Given the description of an element on the screen output the (x, y) to click on. 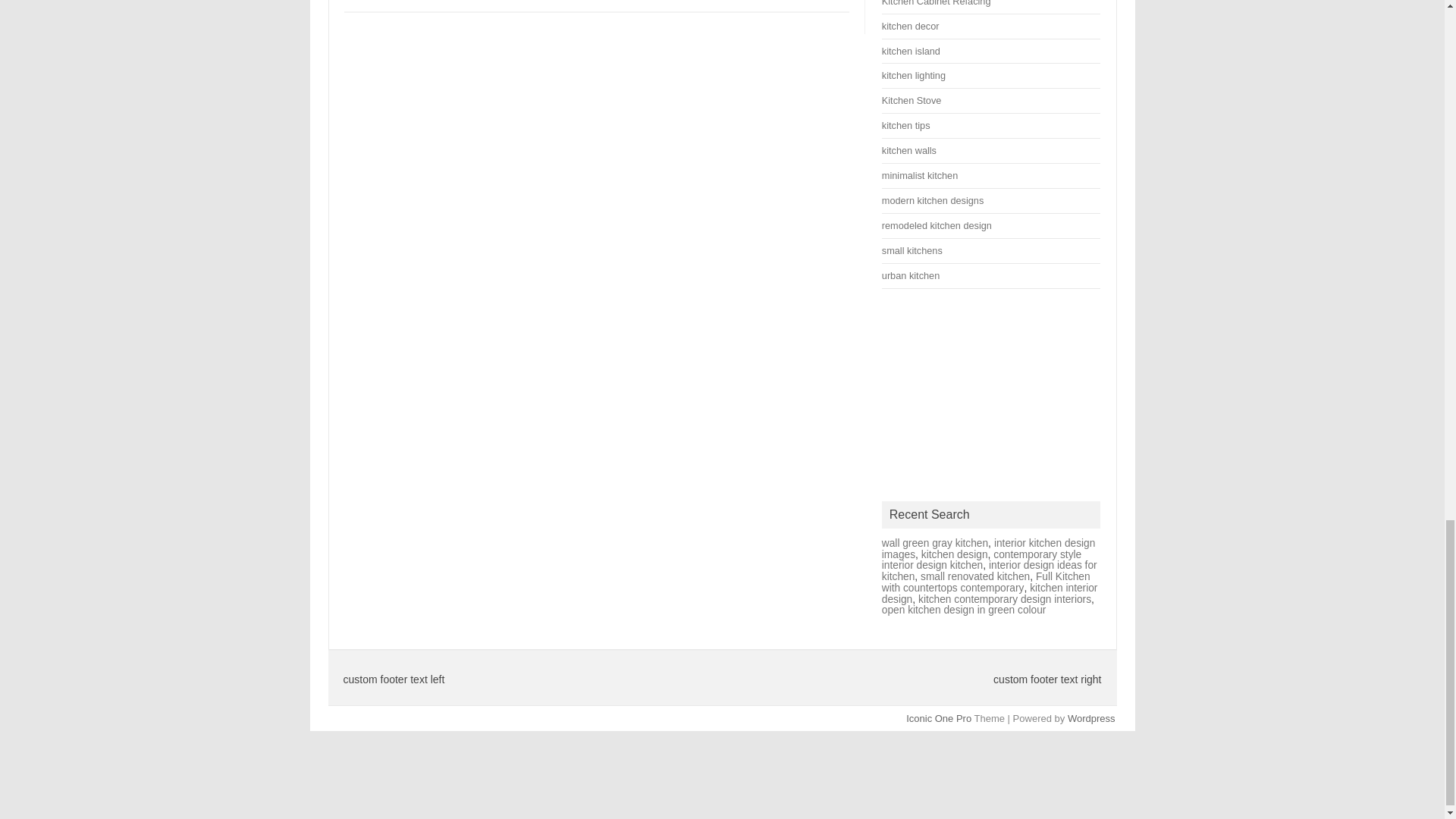
Advertisement (991, 394)
